Given the description of an element on the screen output the (x, y) to click on. 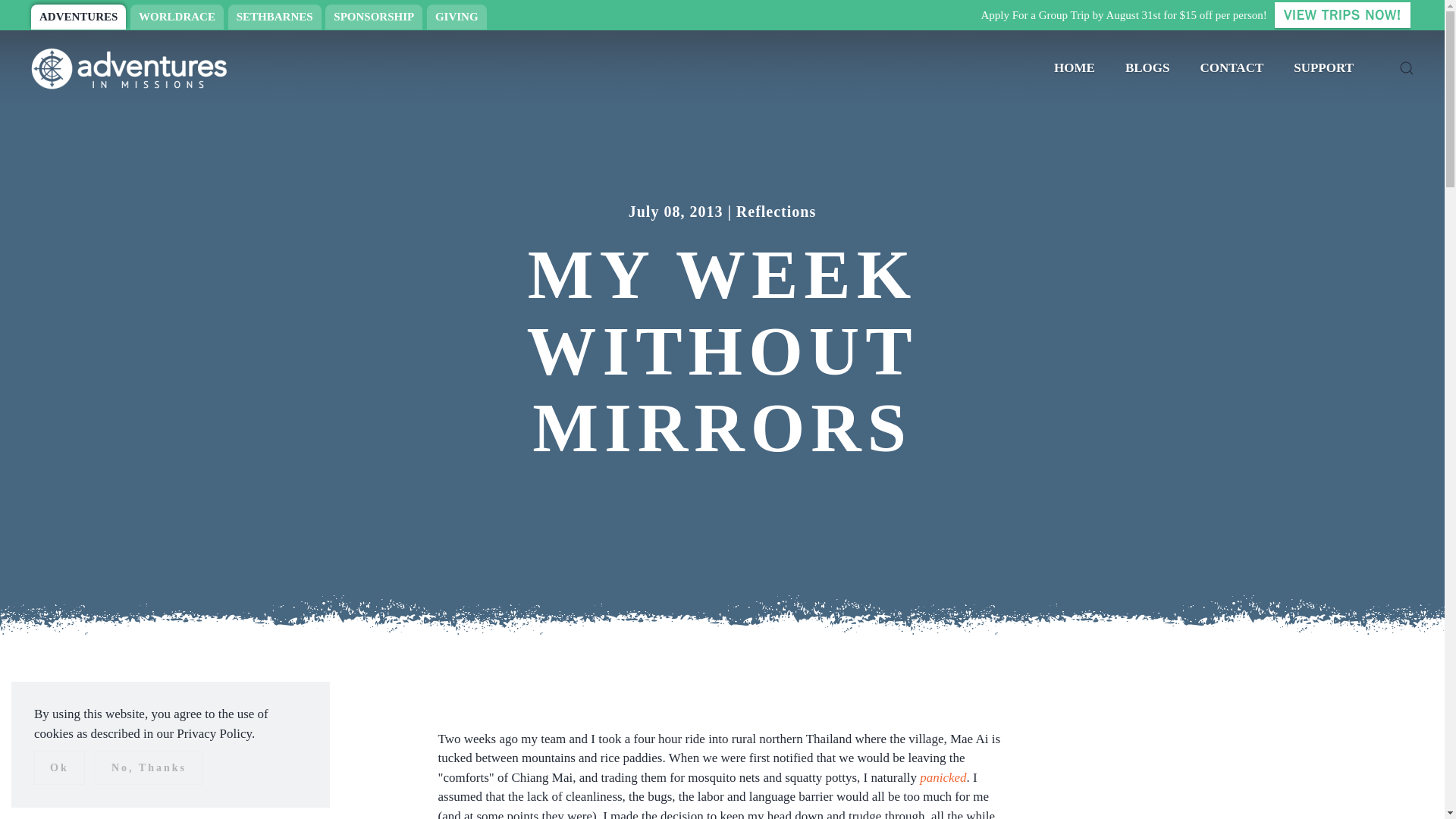
CONTACT (1231, 68)
Reflections (775, 211)
VIEW TRIPS NOW! (1342, 14)
GIVING (456, 16)
SUPPORT (1323, 68)
SPONSORSHIP (373, 16)
BLOGS (1147, 68)
HOME (1074, 68)
SETHBARNES (274, 16)
WORLDRACE (177, 16)
